Given the description of an element on the screen output the (x, y) to click on. 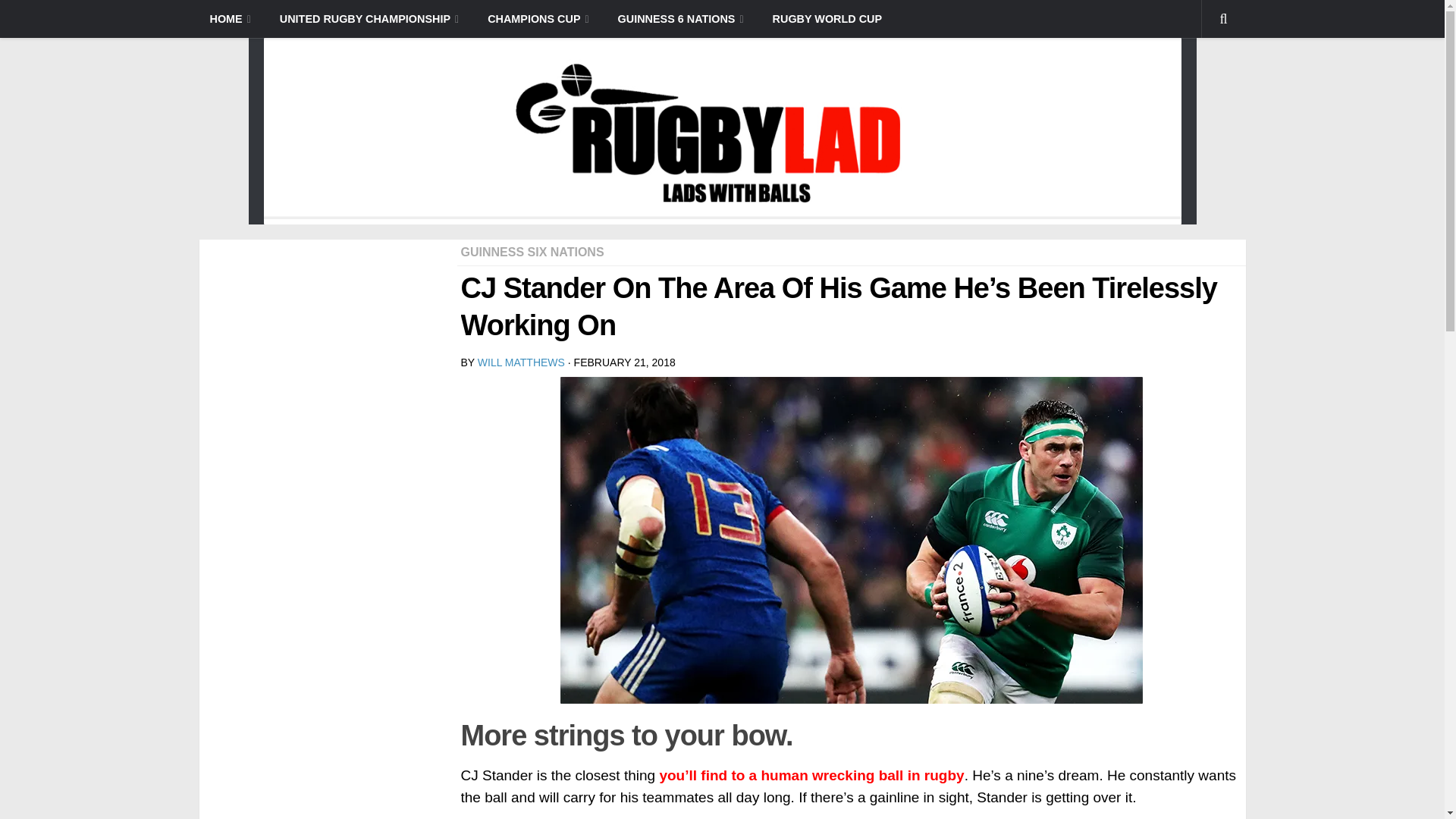
GUINNESS 6 NATIONS (676, 18)
UNITED RUGBY CHAMPIONSHIP (365, 18)
HOME (229, 18)
Posts by Will Matthews (520, 362)
RUGBY WORLD CUP (823, 18)
CHAMPIONS CUP (533, 18)
WILL MATTHEWS (520, 362)
GUINNESS SIX NATIONS (532, 251)
